Given the description of an element on the screen output the (x, y) to click on. 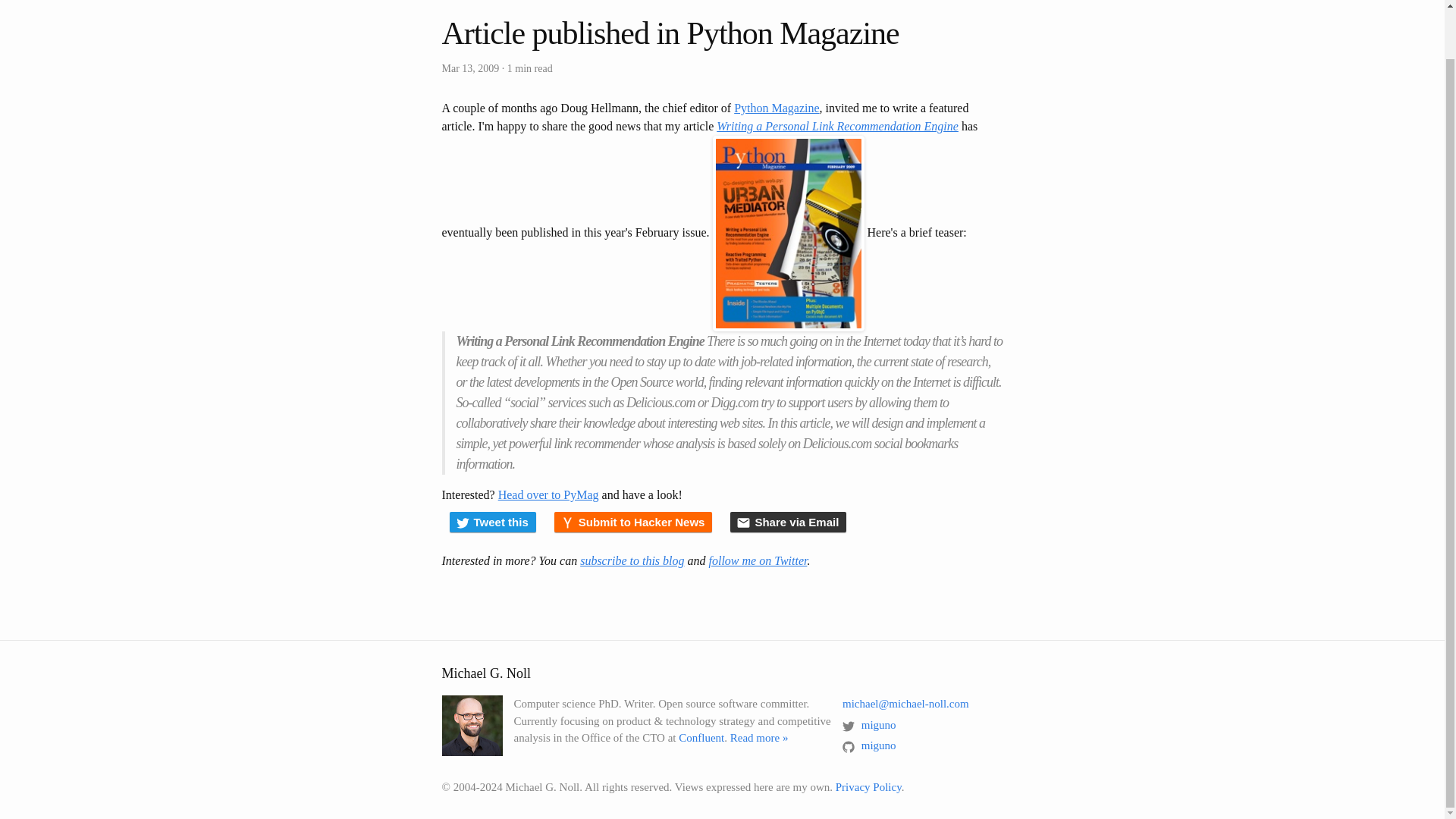
Tweet this (491, 522)
miguno (869, 745)
follow me on Twitter (756, 560)
Privacy Policy (868, 787)
subscribe to this blog (631, 560)
Writing a Personal Link Recommendation Engine (837, 125)
Confluent (700, 737)
miguno (869, 725)
Submit to Hacker News (633, 522)
Head over to PyMag (547, 494)
Python Magazine (775, 107)
Share via Email (787, 522)
